Given the description of an element on the screen output the (x, y) to click on. 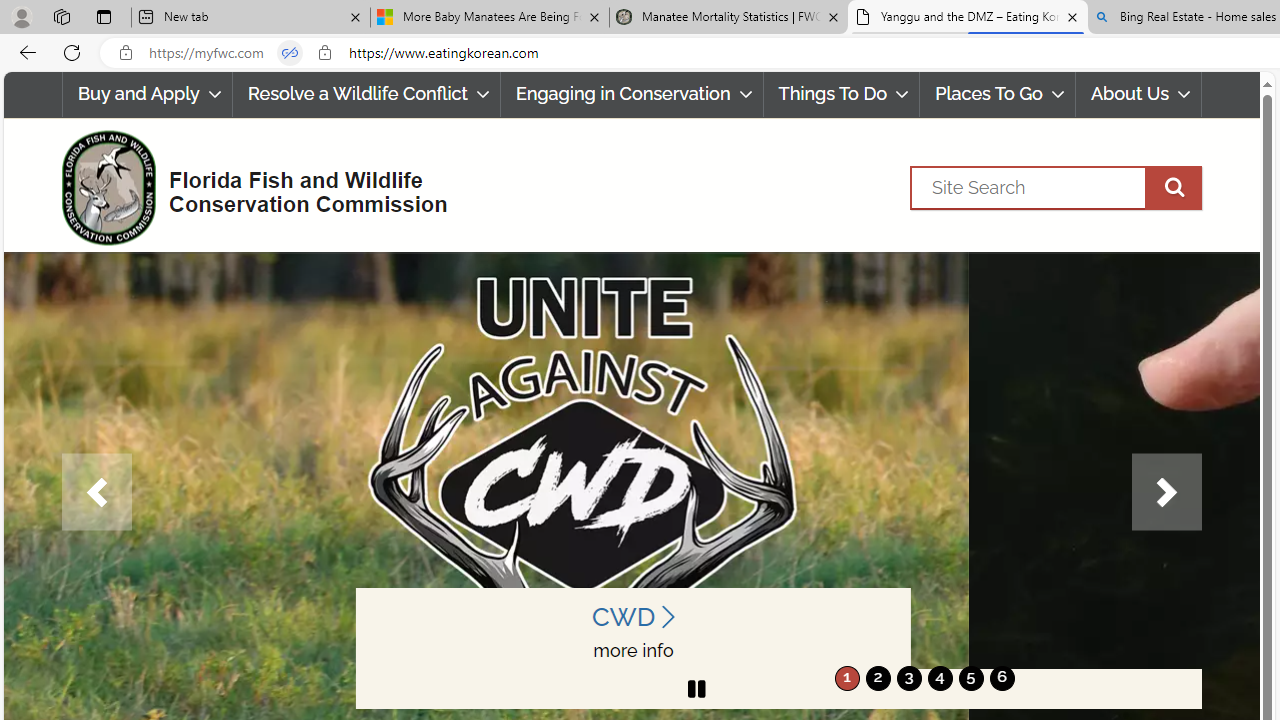
Tabs in split screen (289, 53)
Previous (96, 491)
Engaging in Conservation (631, 94)
FWC Logo Florida Fish and Wildlife Conservation Commission (246, 185)
6 (1002, 678)
move to slide 2 (877, 678)
Buy and Apply (146, 94)
move to slide 3 (908, 678)
Places To Go (998, 94)
